Given the description of an element on the screen output the (x, y) to click on. 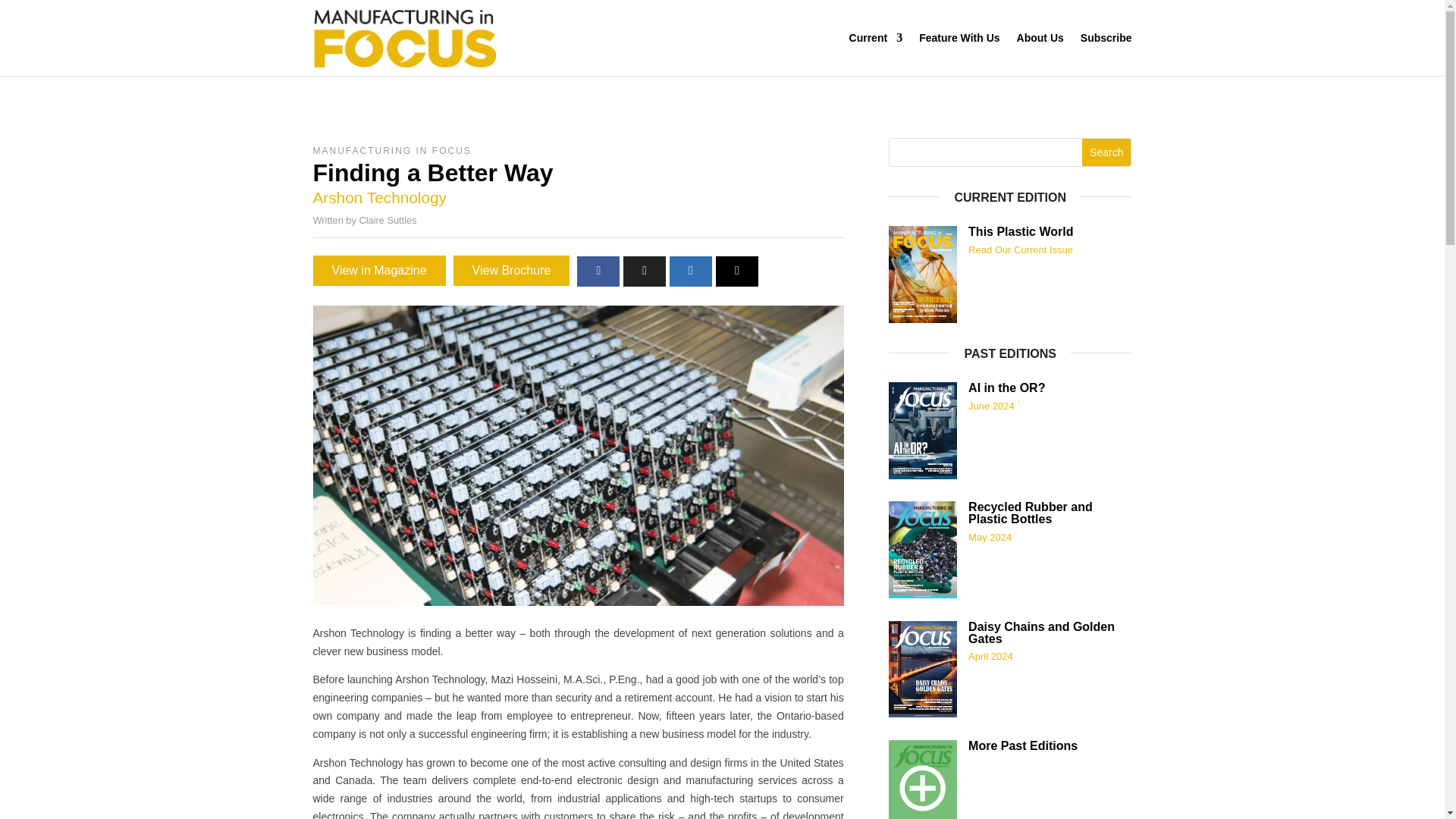
Search (1106, 152)
Search (1106, 152)
MANUFACTURING IN FOCUS (391, 150)
View Brochure (511, 270)
Search (1106, 152)
View in Magazine (379, 270)
Claire Suttles (387, 220)
Feature With Us (958, 37)
